Given the description of an element on the screen output the (x, y) to click on. 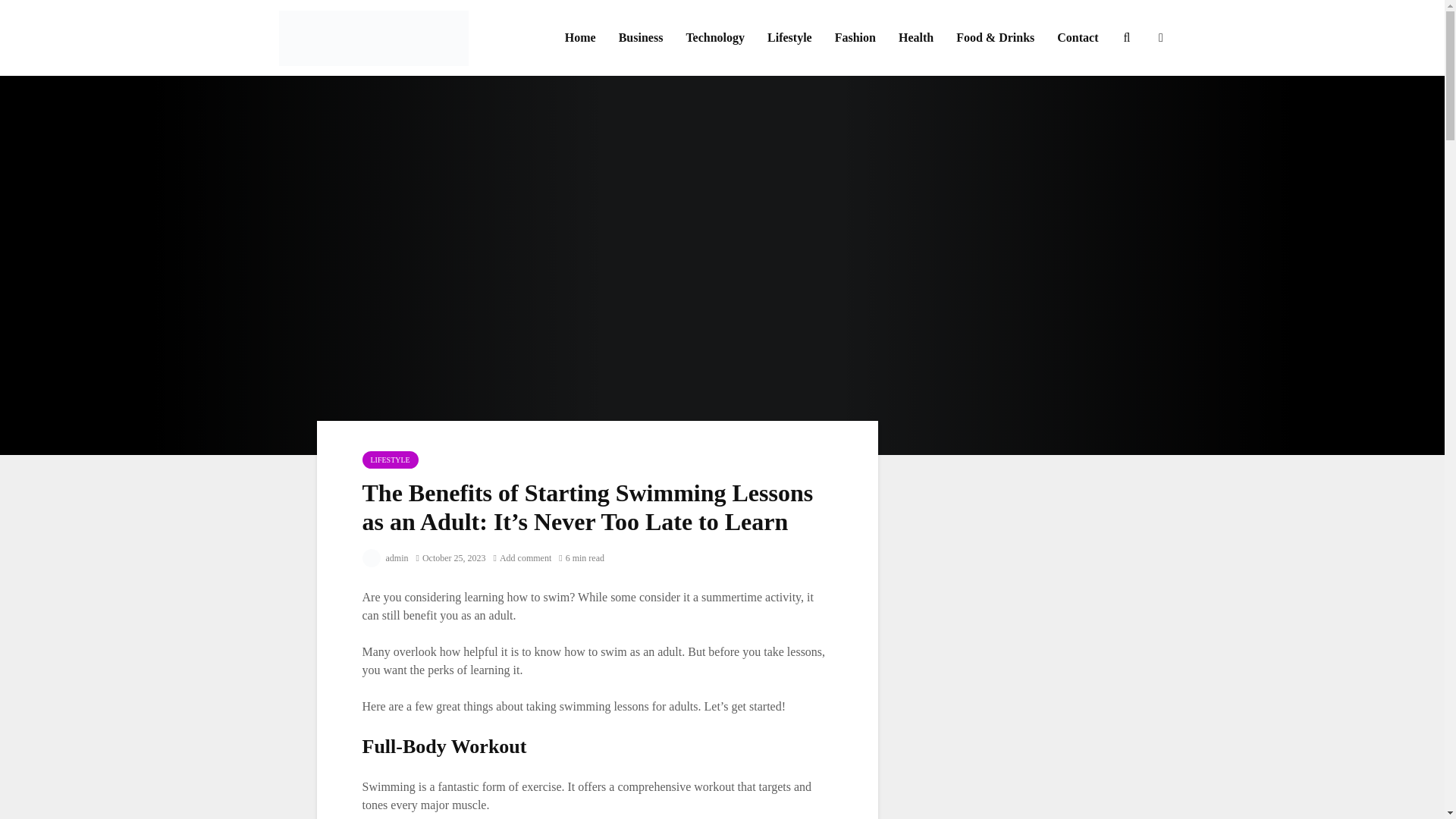
Fashion (855, 37)
Contact (1077, 37)
Health (915, 37)
Add comment (522, 557)
Home (580, 37)
Technology (714, 37)
LIFESTYLE (390, 459)
Business (641, 37)
admin (385, 557)
Lifestyle (789, 37)
